Given the description of an element on the screen output the (x, y) to click on. 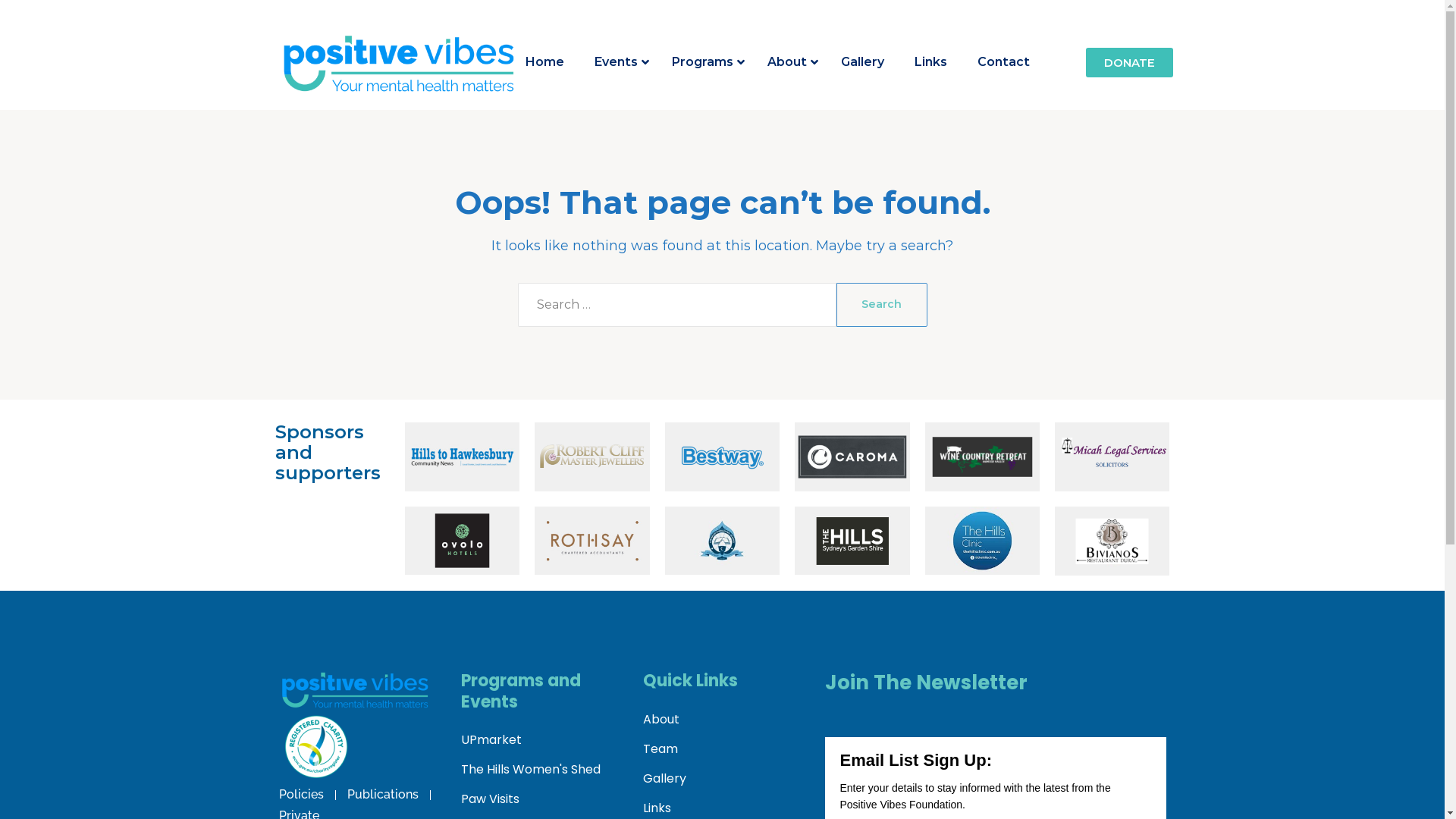
Events Element type: text (617, 62)
Links Element type: text (722, 808)
Home Element type: text (544, 62)
About Element type: text (722, 719)
Team Element type: text (722, 749)
Links Element type: text (930, 62)
The Hills Women's Shed Element type: text (540, 769)
Publications Element type: text (382, 794)
Gallery Element type: text (862, 62)
Untitled design (2) Element type: hover (354, 689)
Gallery Element type: text (722, 778)
Policies Element type: text (301, 794)
Programs Element type: text (704, 62)
DONATE Element type: text (1129, 62)
UPmarket Element type: text (540, 740)
Search Element type: text (880, 304)
About Element type: text (788, 62)
Paw Visits Element type: text (540, 799)
Contact Element type: text (1003, 62)
